Given the description of an element on the screen output the (x, y) to click on. 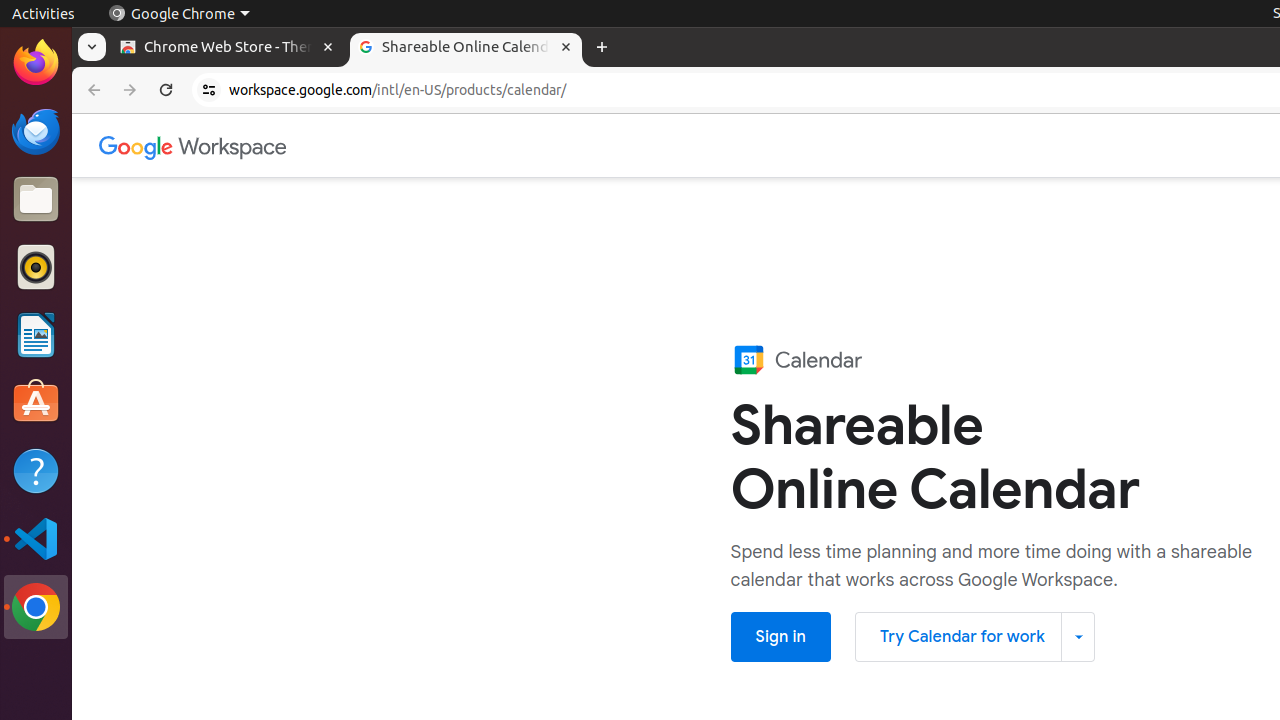
New Tab Element type: push-button (602, 47)
LibreOffice Writer Element type: push-button (36, 334)
Help Element type: push-button (36, 470)
